Given the description of an element on the screen output the (x, y) to click on. 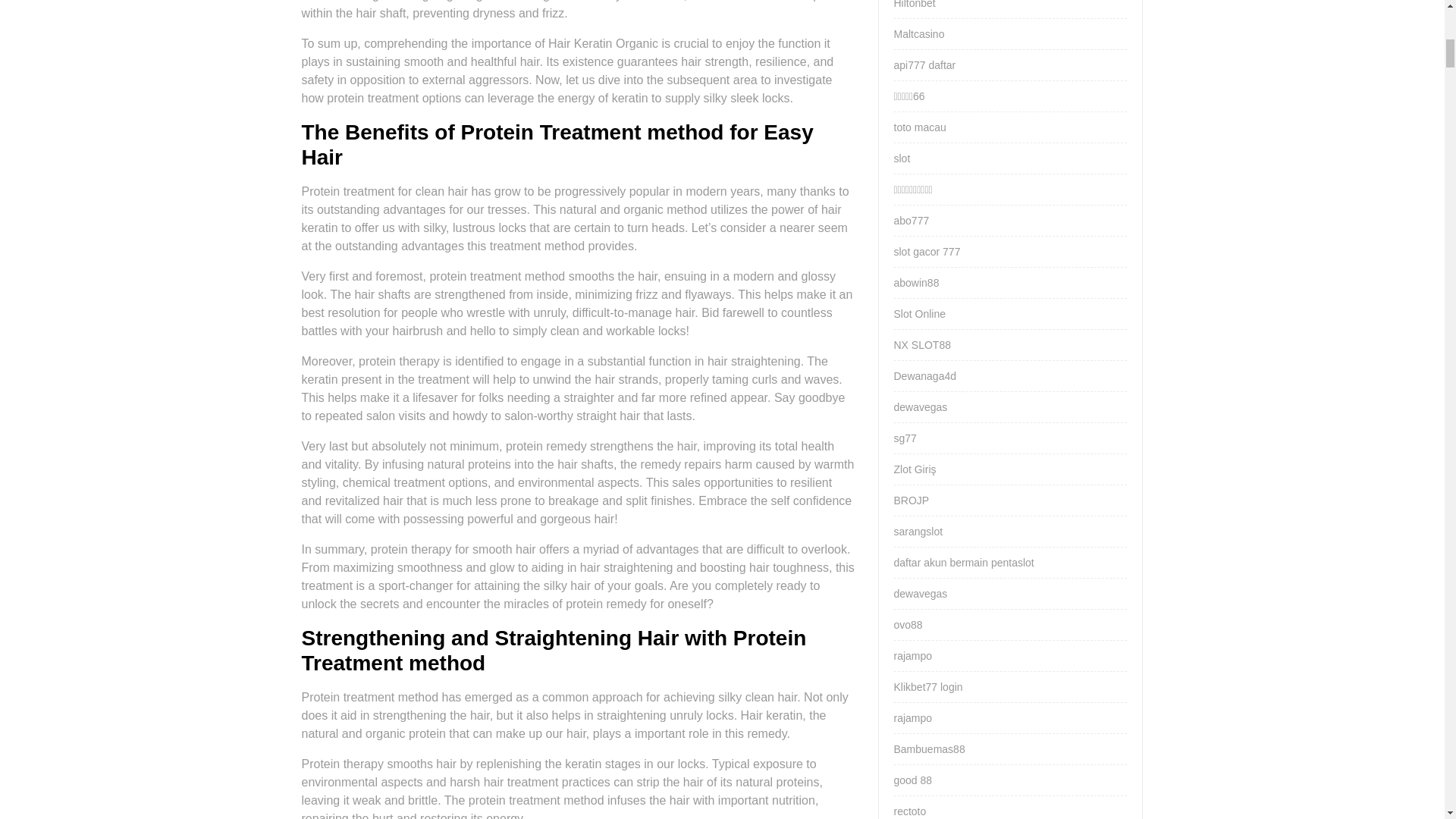
abowin88 (916, 282)
dewavegas (920, 593)
toto macau (918, 127)
daftar akun bermain pentaslot (963, 562)
Maltcasino (918, 33)
dewavegas (920, 407)
Dewanaga4d (924, 376)
BROJP (910, 500)
Slot Online (918, 313)
Hiltonbet (913, 4)
api777 daftar (924, 64)
NX SLOT88 (921, 345)
abo777 (910, 220)
sg77 (904, 438)
sarangslot (917, 531)
